Given the description of an element on the screen output the (x, y) to click on. 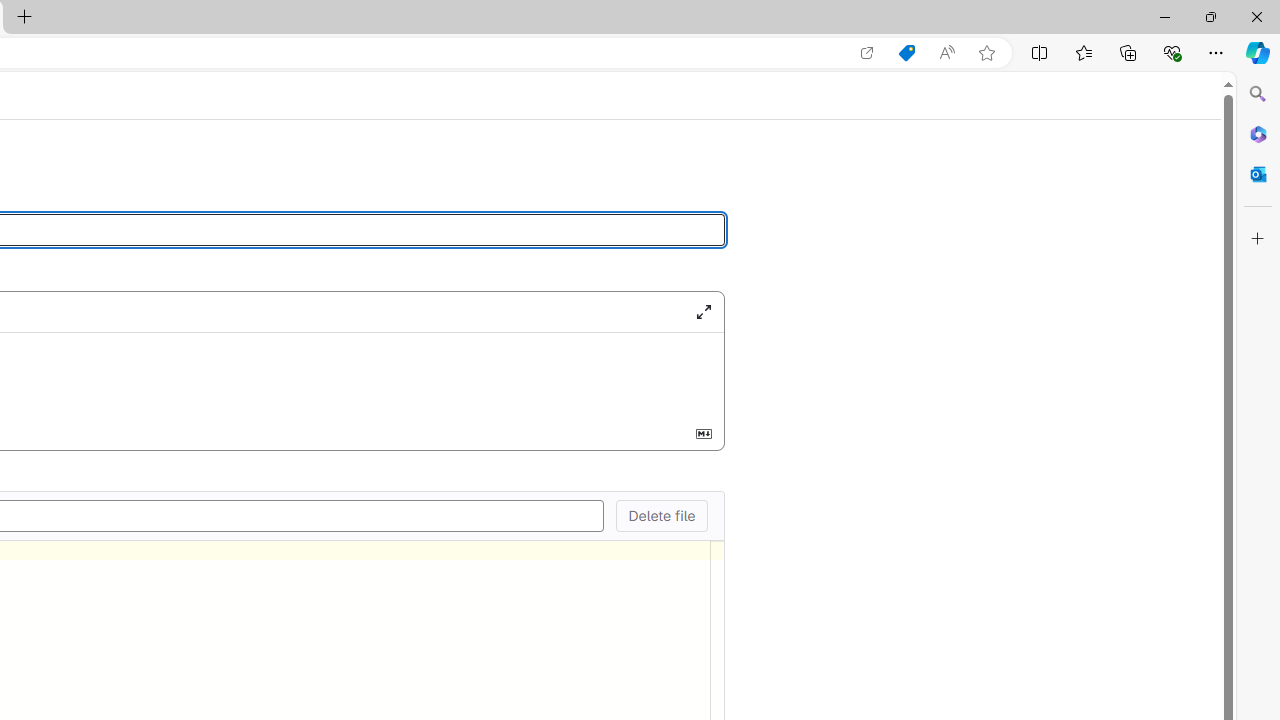
Delete file (661, 515)
Markdown is supported (703, 433)
Go full screen (703, 311)
